Given the description of an element on the screen output the (x, y) to click on. 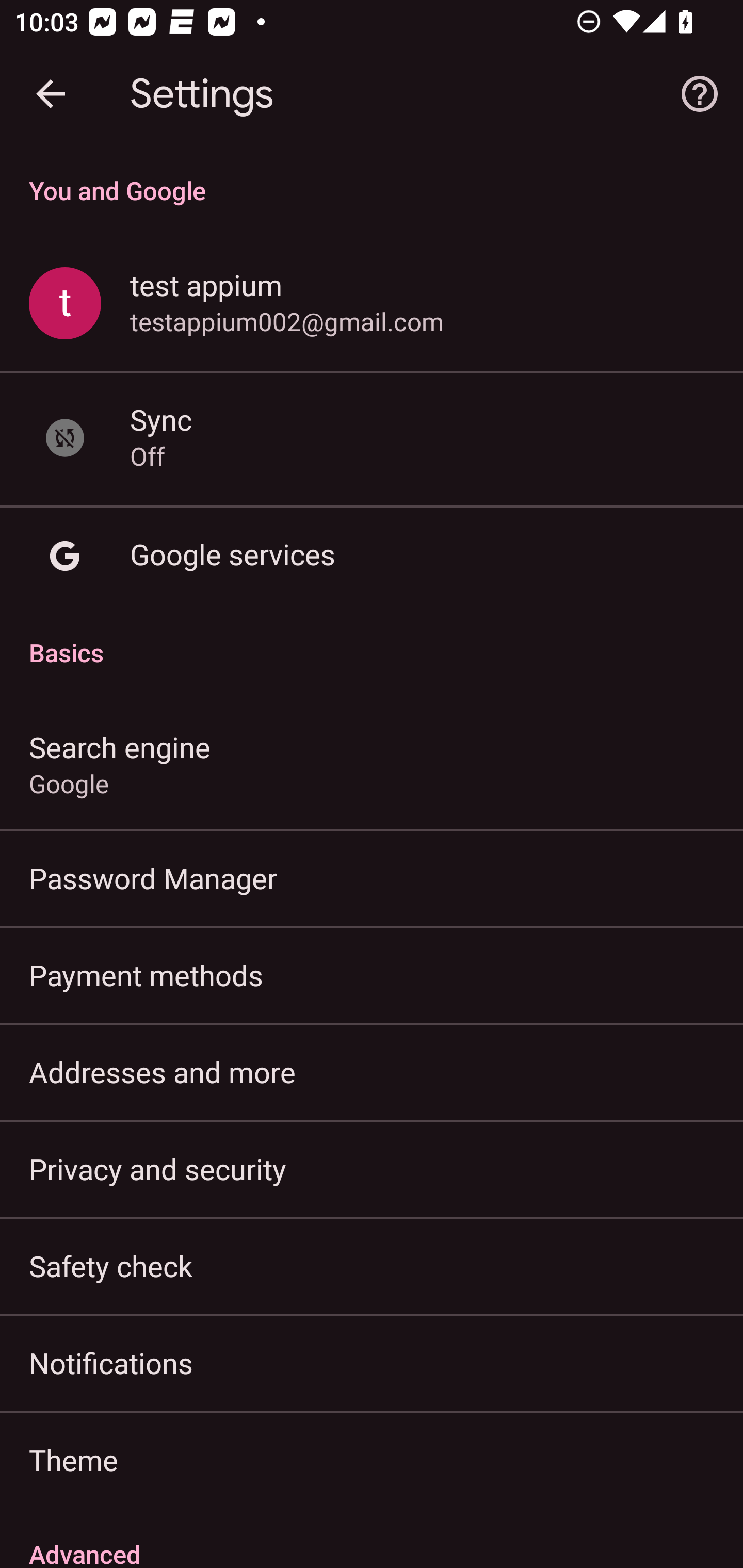
Navigate up (50, 93)
Help & feedback (699, 93)
test appium testappium002@gmail.com (371, 303)
Sync Off (371, 437)
Google services (371, 555)
Search engine Google (371, 763)
Password Manager (371, 877)
Payment methods (371, 974)
Addresses and more (371, 1071)
Privacy and security (371, 1167)
Safety check (371, 1264)
Notifications (371, 1362)
Theme (371, 1459)
